Given the description of an element on the screen output the (x, y) to click on. 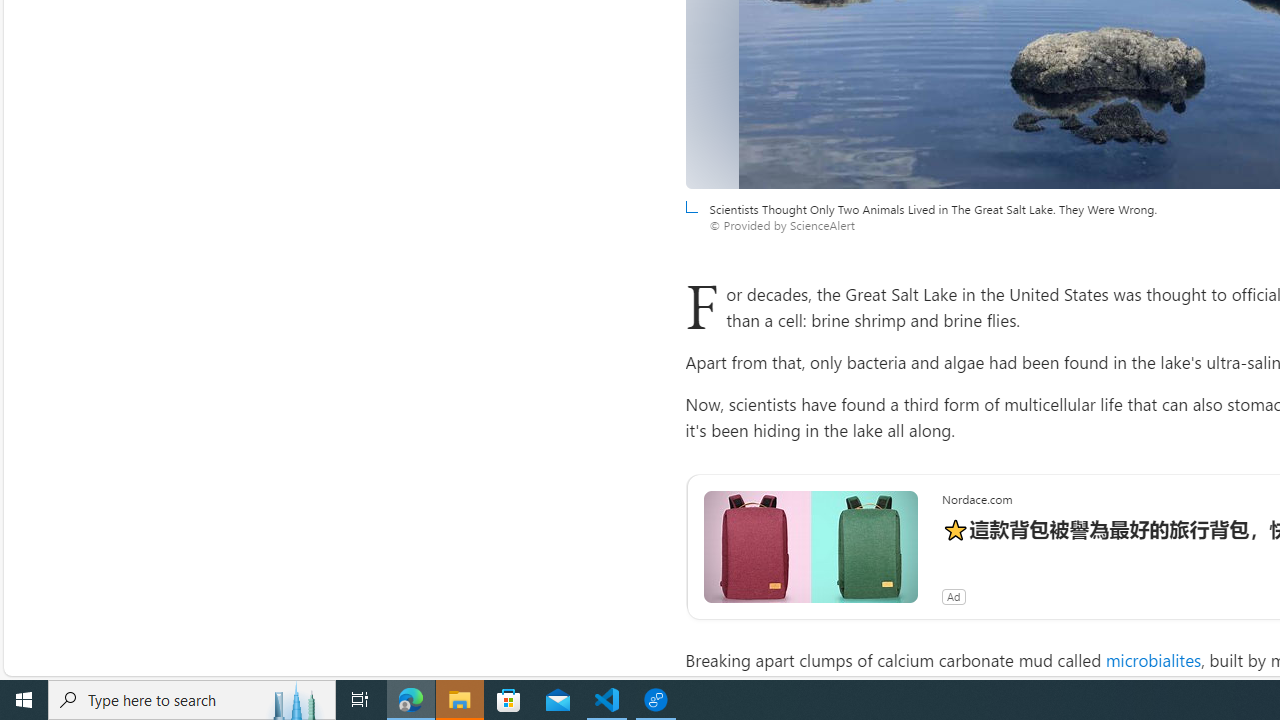
microbialites (1152, 659)
Ad (953, 596)
